Given the description of an element on the screen output the (x, y) to click on. 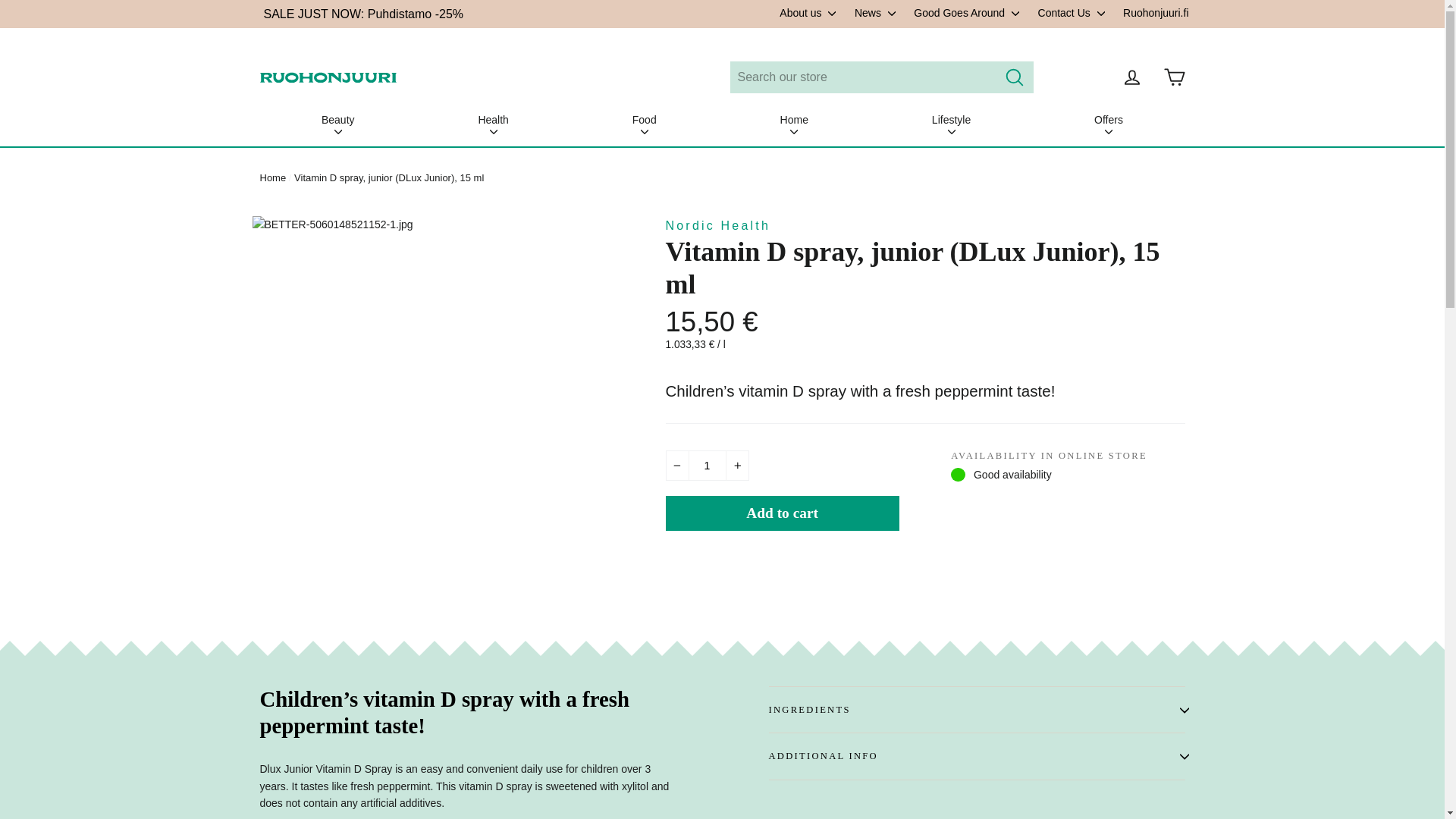
Back to the frontpage (272, 177)
1 (707, 465)
